Given the description of an element on the screen output the (x, y) to click on. 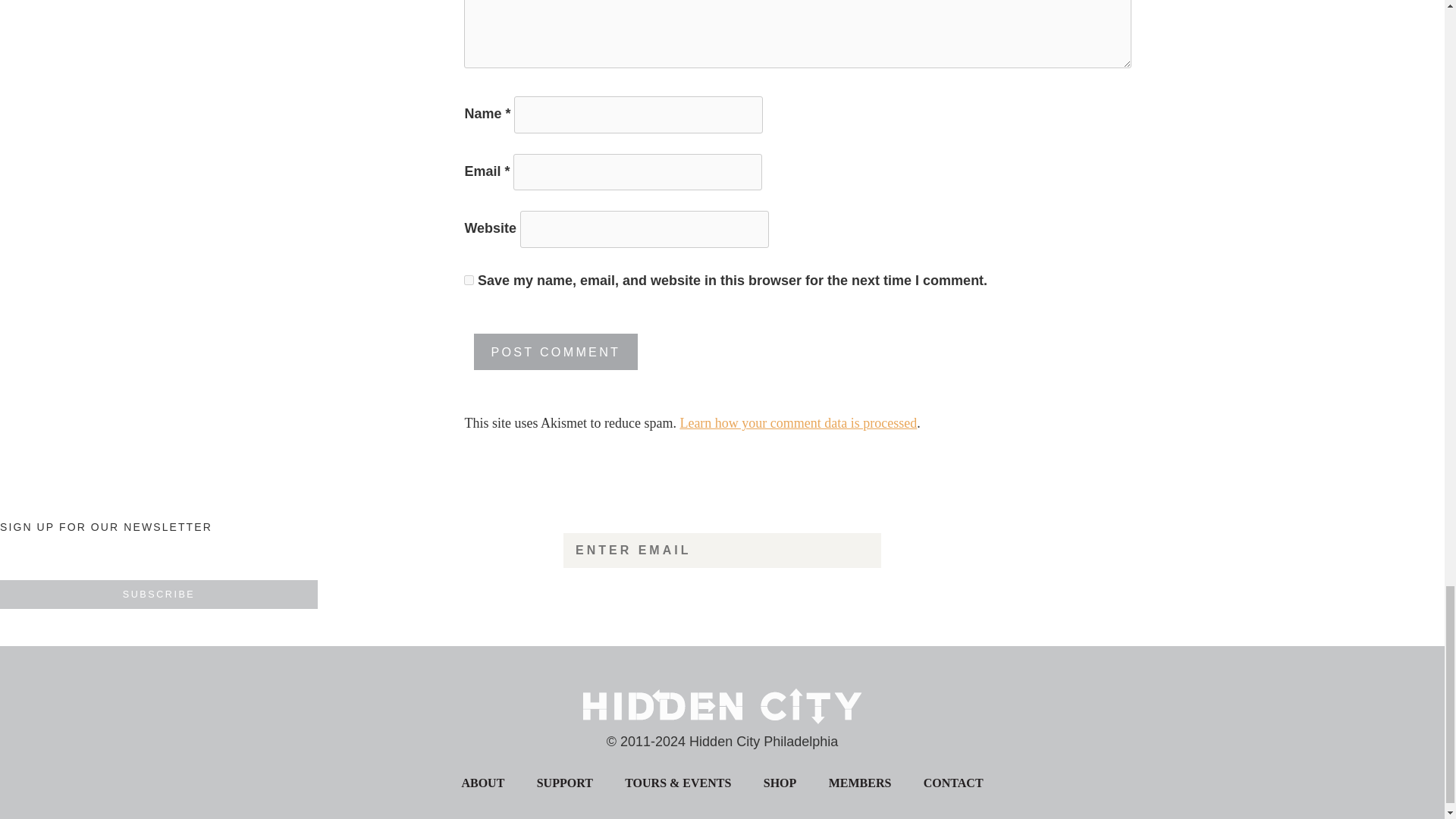
Post Comment (556, 351)
yes (469, 279)
Subscribe (158, 594)
